Given the description of an element on the screen output the (x, y) to click on. 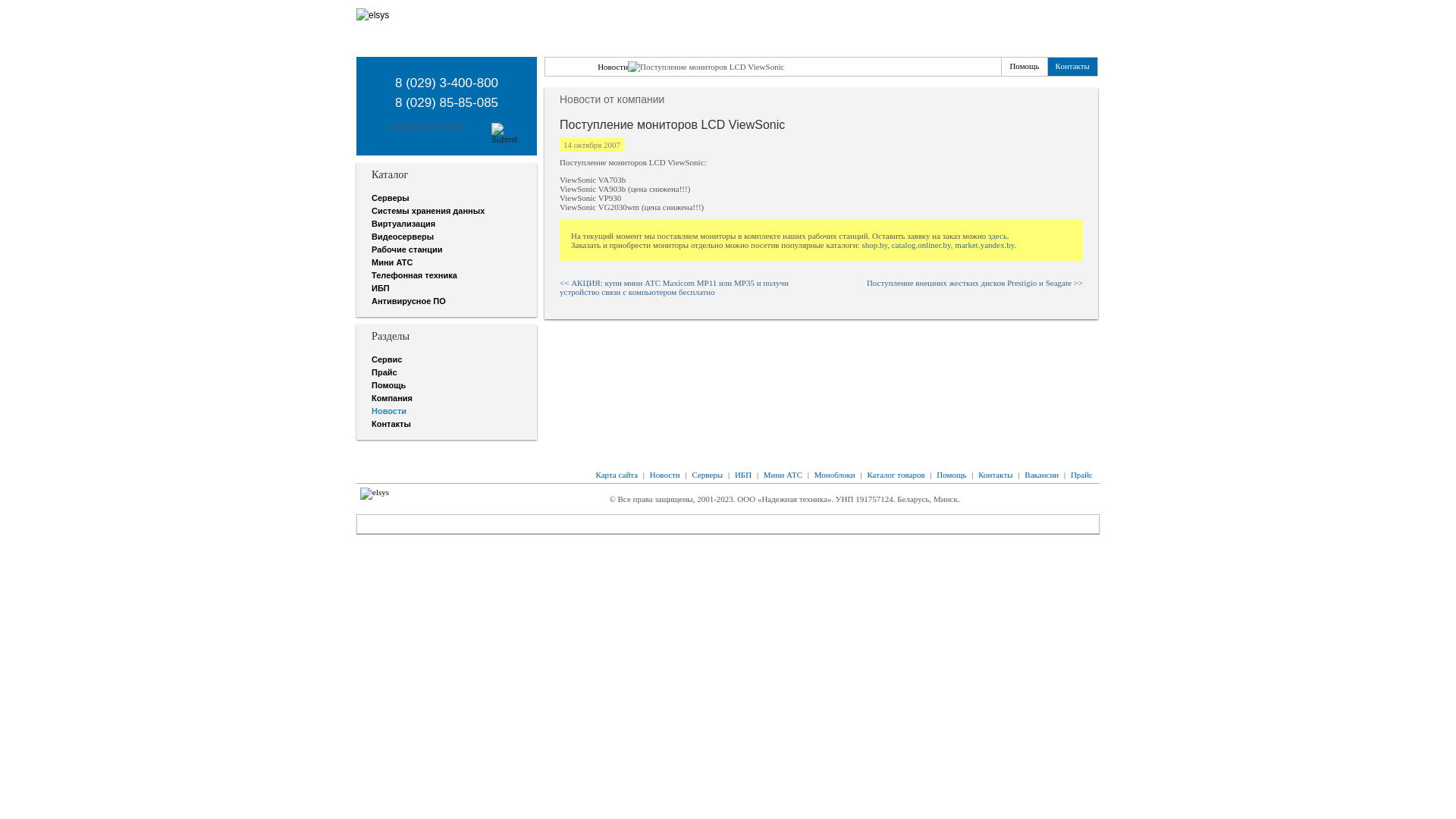
 ELSYS  Element type: text (567, 65)
8 (029) 85-85-085 Element type: text (446, 102)
market.yandex.by Element type: text (983, 244)
shop.by Element type: text (874, 244)
catalog.onliner.by Element type: text (920, 244)
8 (029) 3-400-800 Element type: text (446, 82)
